Given the description of an element on the screen output the (x, y) to click on. 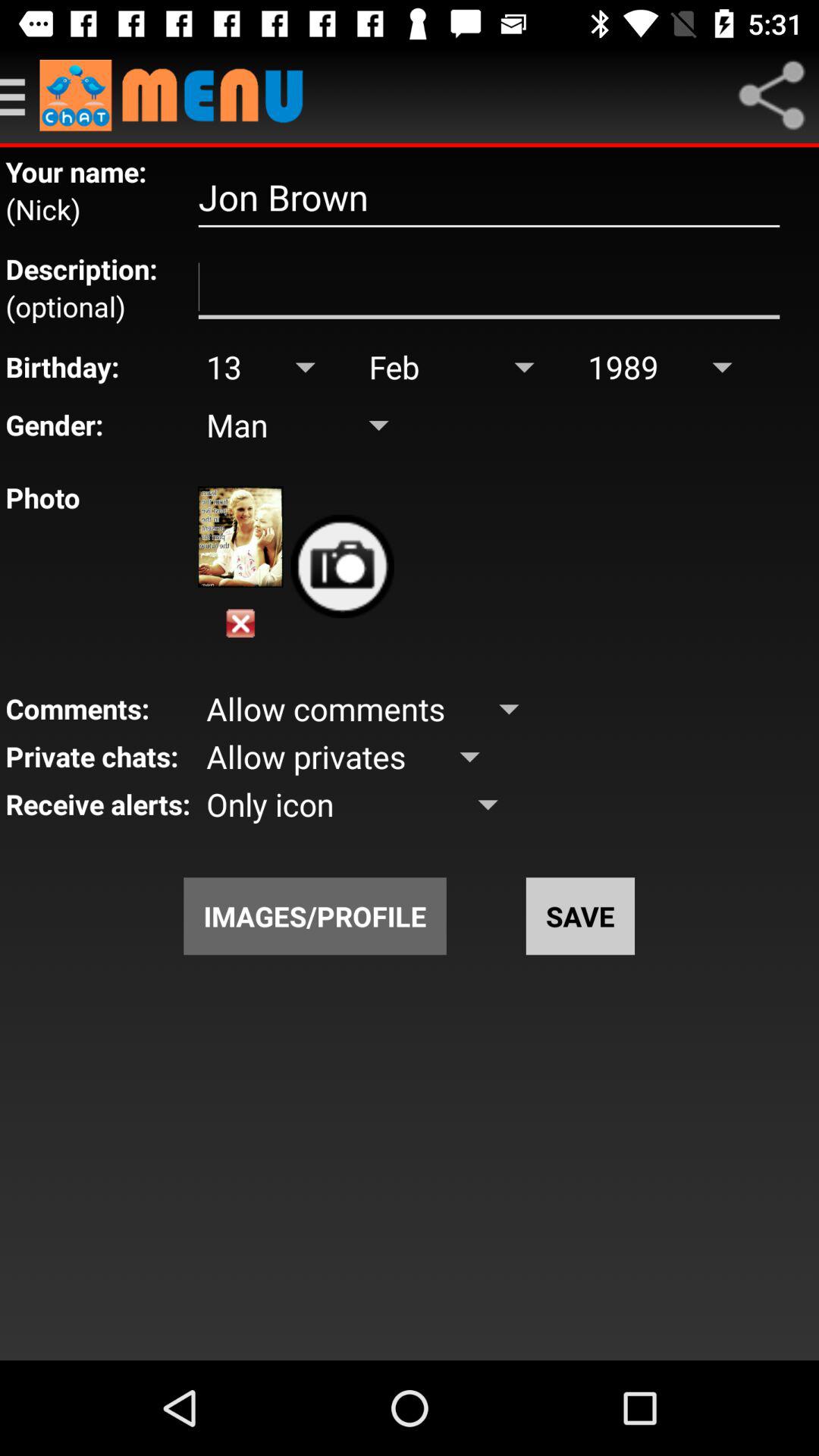
setting in privacy (19, 95)
